Given the description of an element on the screen output the (x, y) to click on. 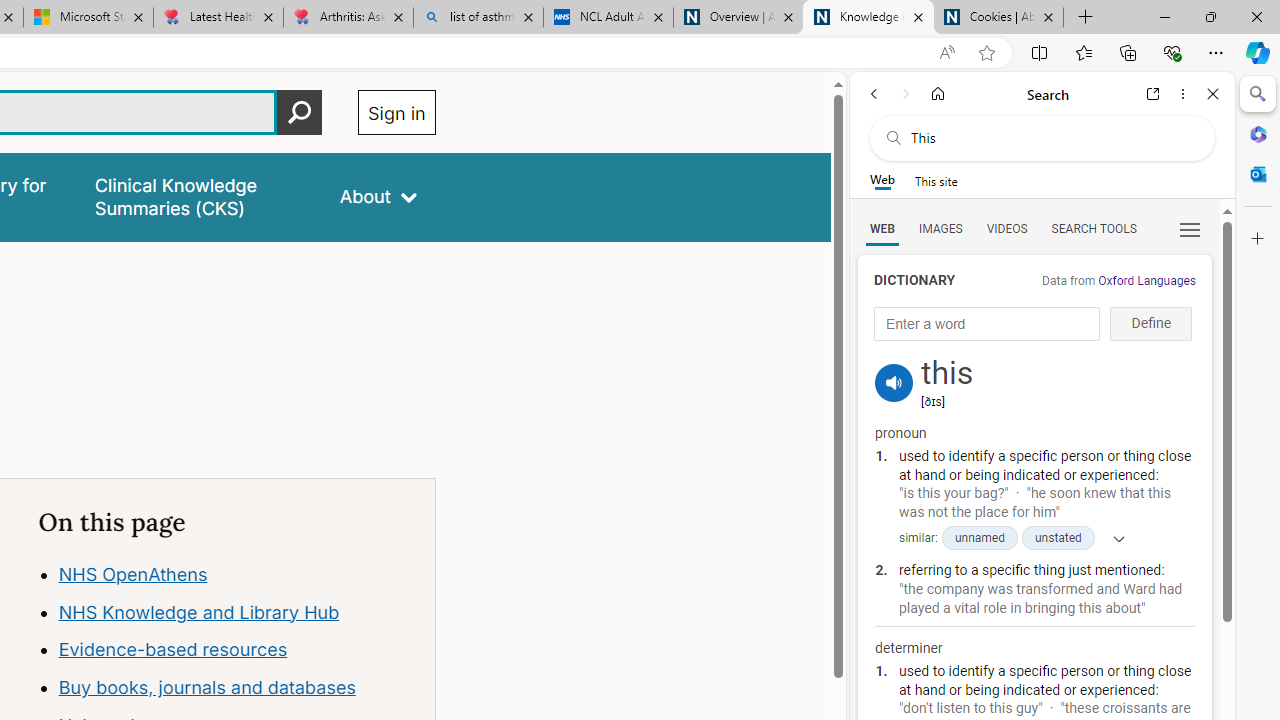
Define (1150, 323)
Perform search (299, 112)
NHS Knowledge and Library Hub (237, 612)
Show more (1112, 538)
unstated (1057, 538)
